Given the description of an element on the screen output the (x, y) to click on. 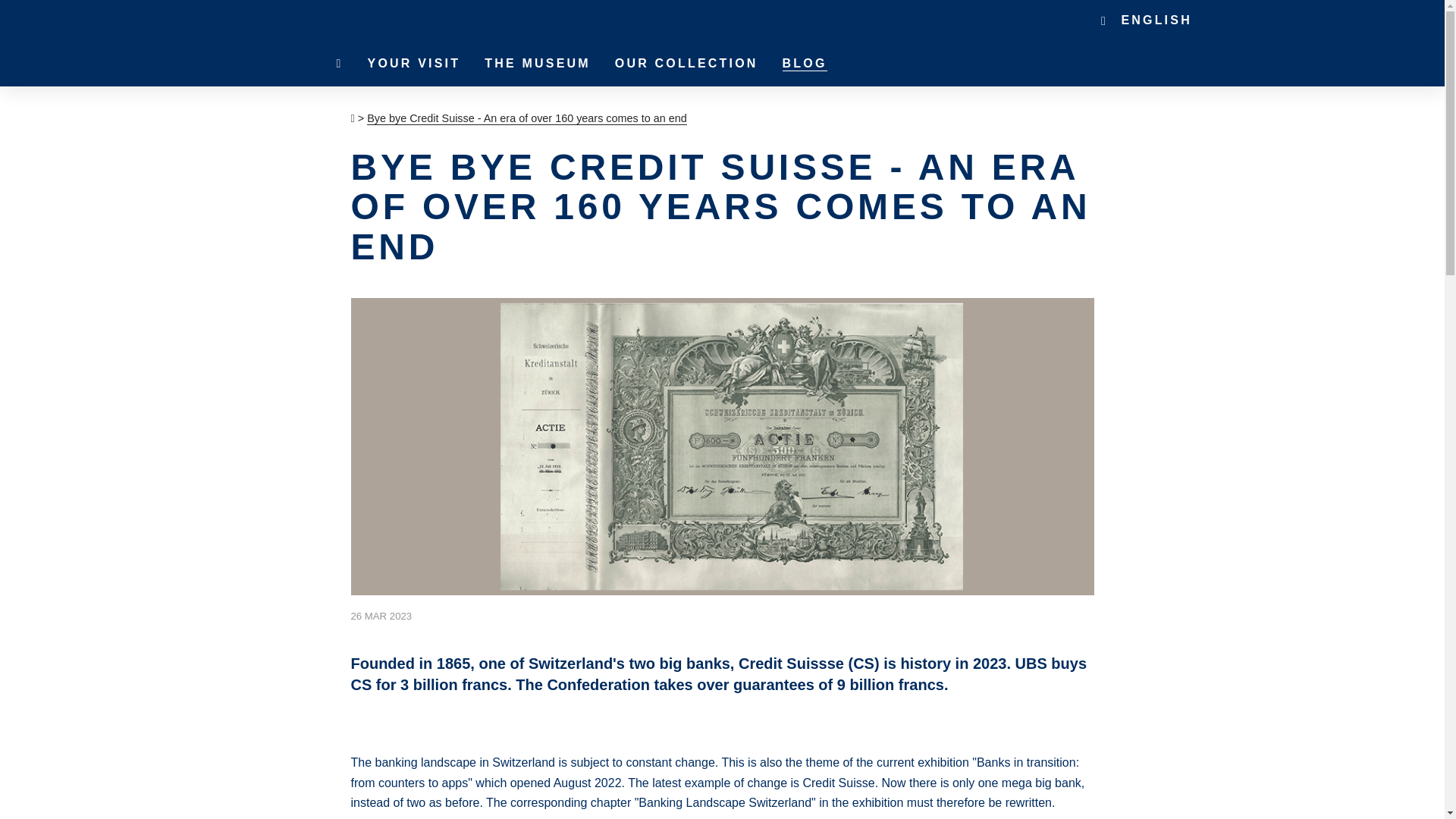
YOUR VISIT (414, 63)
OUR COLLECTION (686, 63)
BLOG (805, 63)
THE MUSEUM (536, 63)
